Given the description of an element on the screen output the (x, y) to click on. 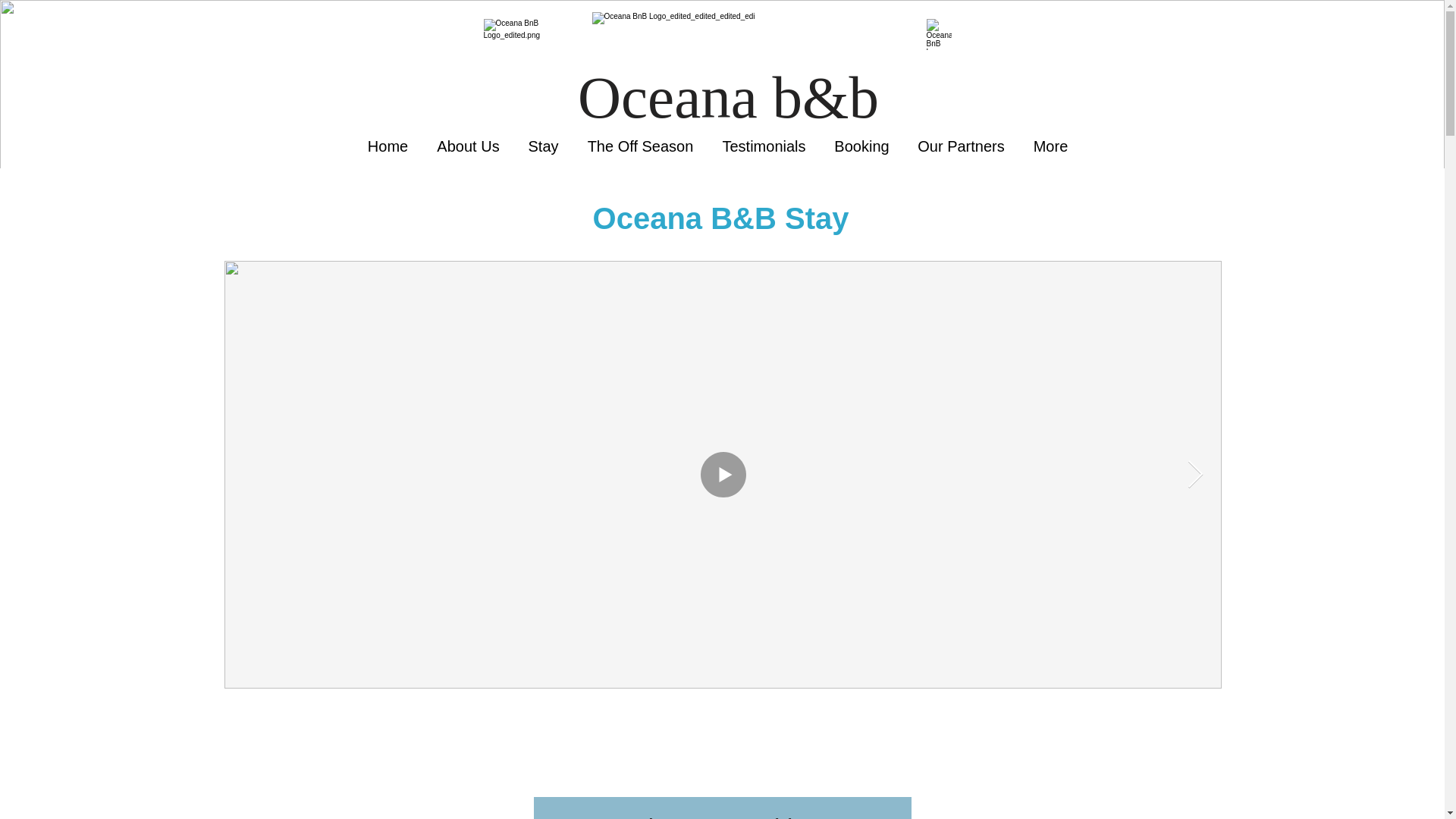
Booking (862, 144)
About Us (468, 144)
Testimonials (764, 144)
The Off Season (640, 144)
Our Partners (961, 144)
Book Your Stay With Us (722, 807)
Stay (543, 144)
Home (388, 144)
